Given the description of an element on the screen output the (x, y) to click on. 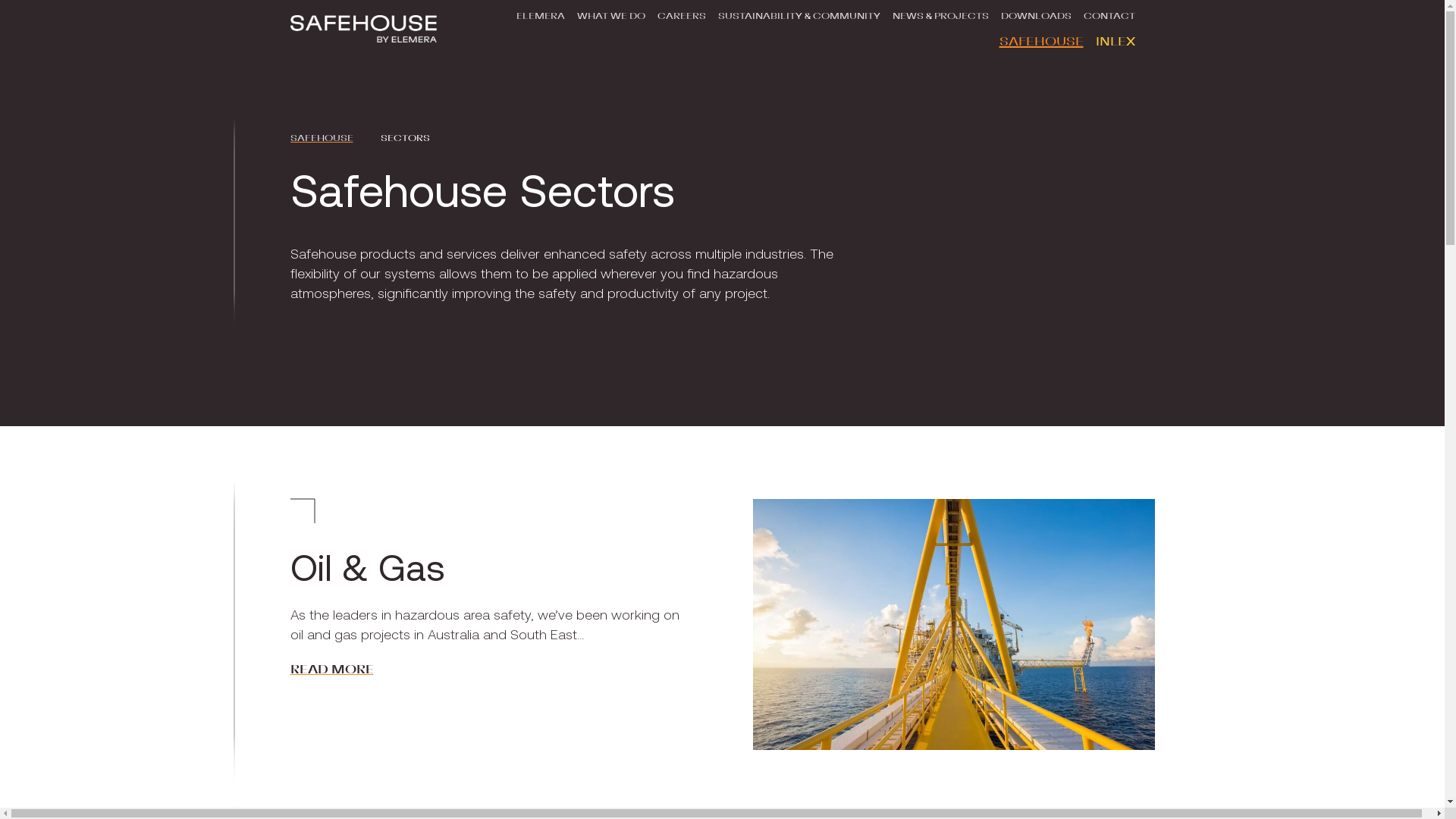
READ MORE Element type: text (331, 669)
CONTACT Element type: text (1108, 12)
NEWS & PROJECTS Element type: text (939, 12)
SAFEHOUSE Element type: text (320, 137)
SUSTAINABILITY & COMMUNITY Element type: text (798, 12)
CAREERS Element type: text (680, 12)
Click to open the search dialog Element type: text (1147, 6)
INLEX Element type: text (1114, 41)
ELEMERA Element type: text (539, 12)
DOWNLOADS Element type: text (1035, 12)
WHAT WE DO Element type: text (610, 12)
SAFEHOUSE Element type: text (1041, 41)
